Given the description of an element on the screen output the (x, y) to click on. 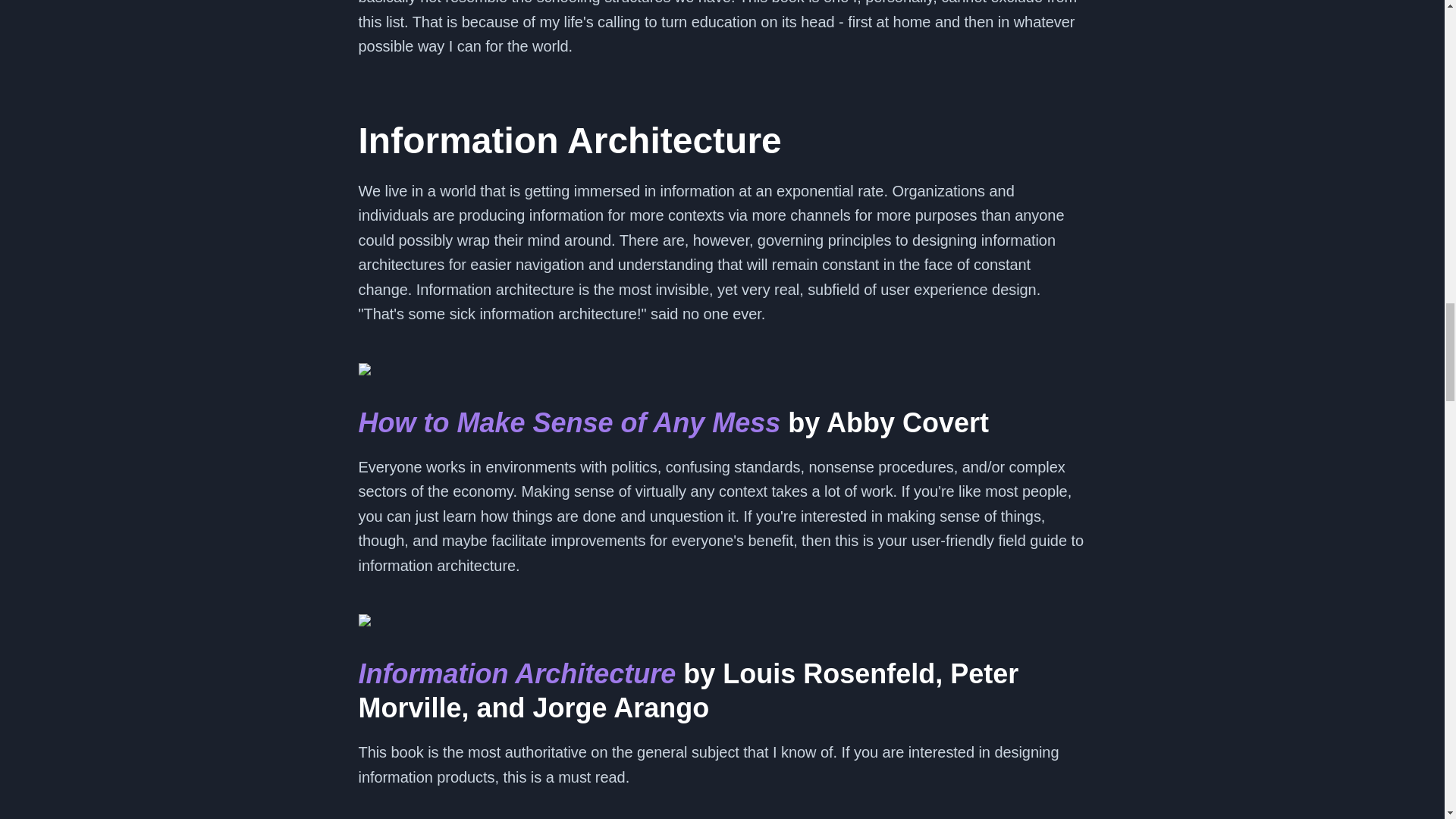
How to Make Sense of Any Mess (569, 422)
Information Architecture (516, 673)
